Given the description of an element on the screen output the (x, y) to click on. 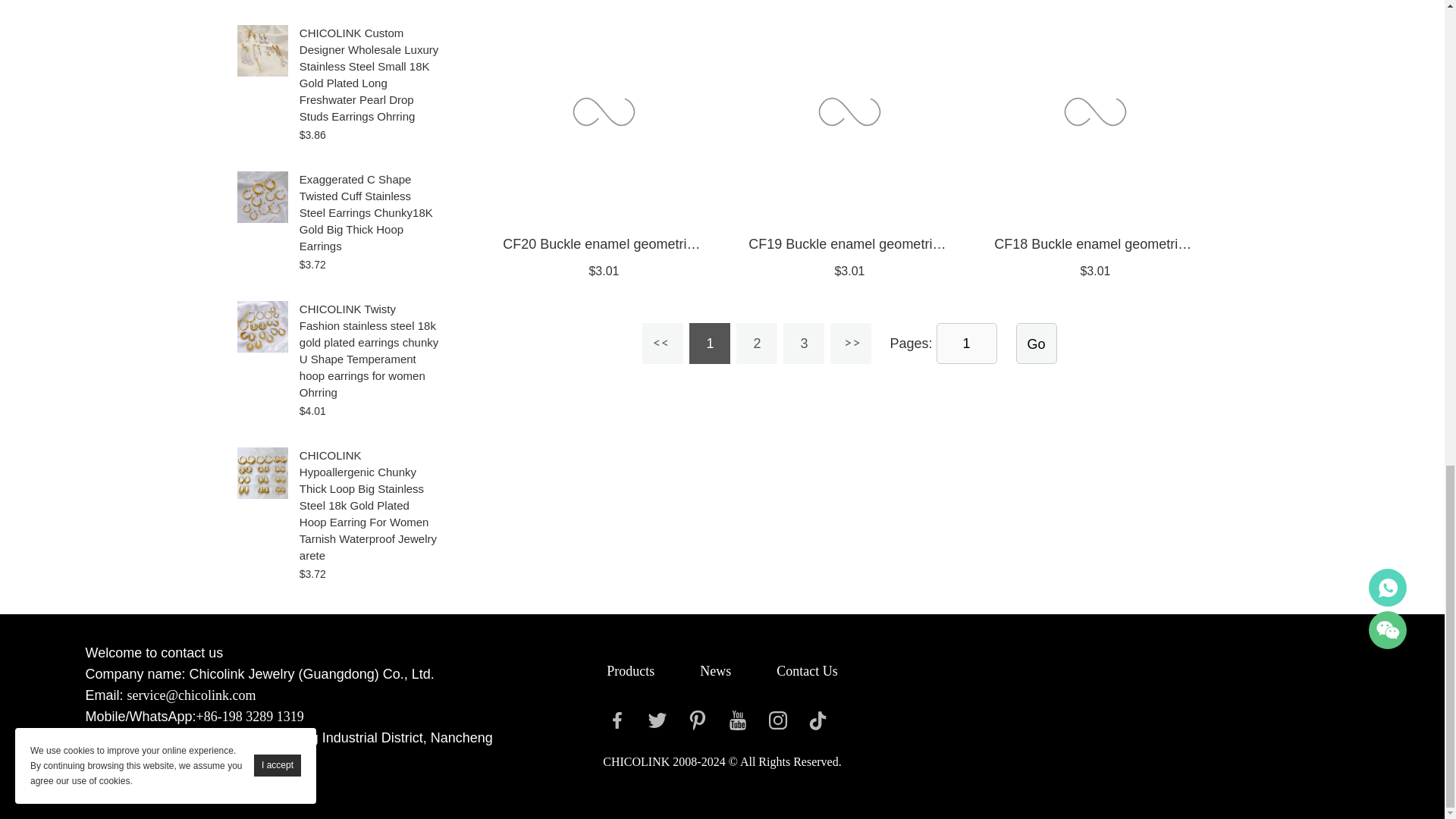
1 (966, 342)
